Given the description of an element on the screen output the (x, y) to click on. 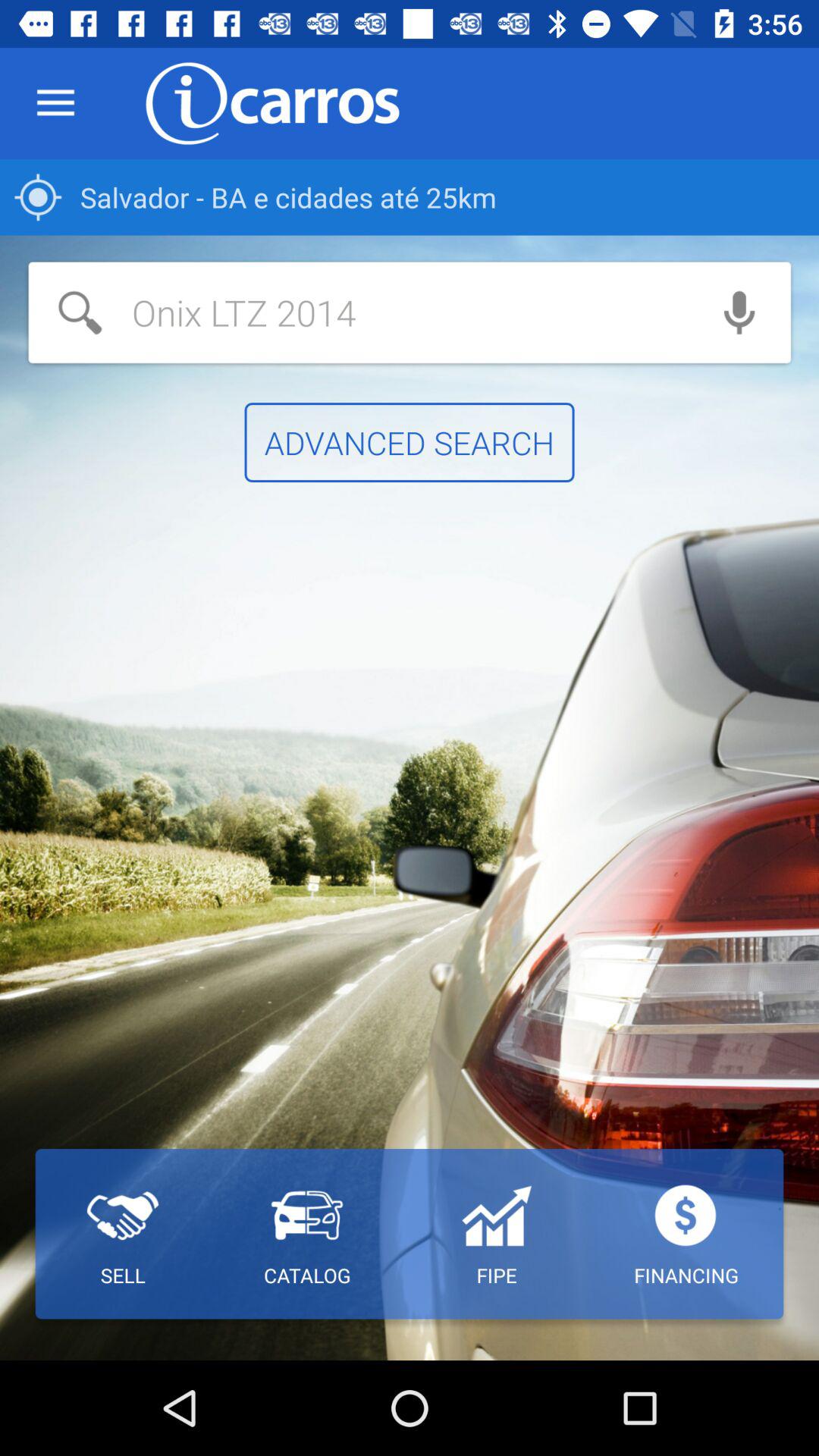
search cars (357, 312)
